Given the description of an element on the screen output the (x, y) to click on. 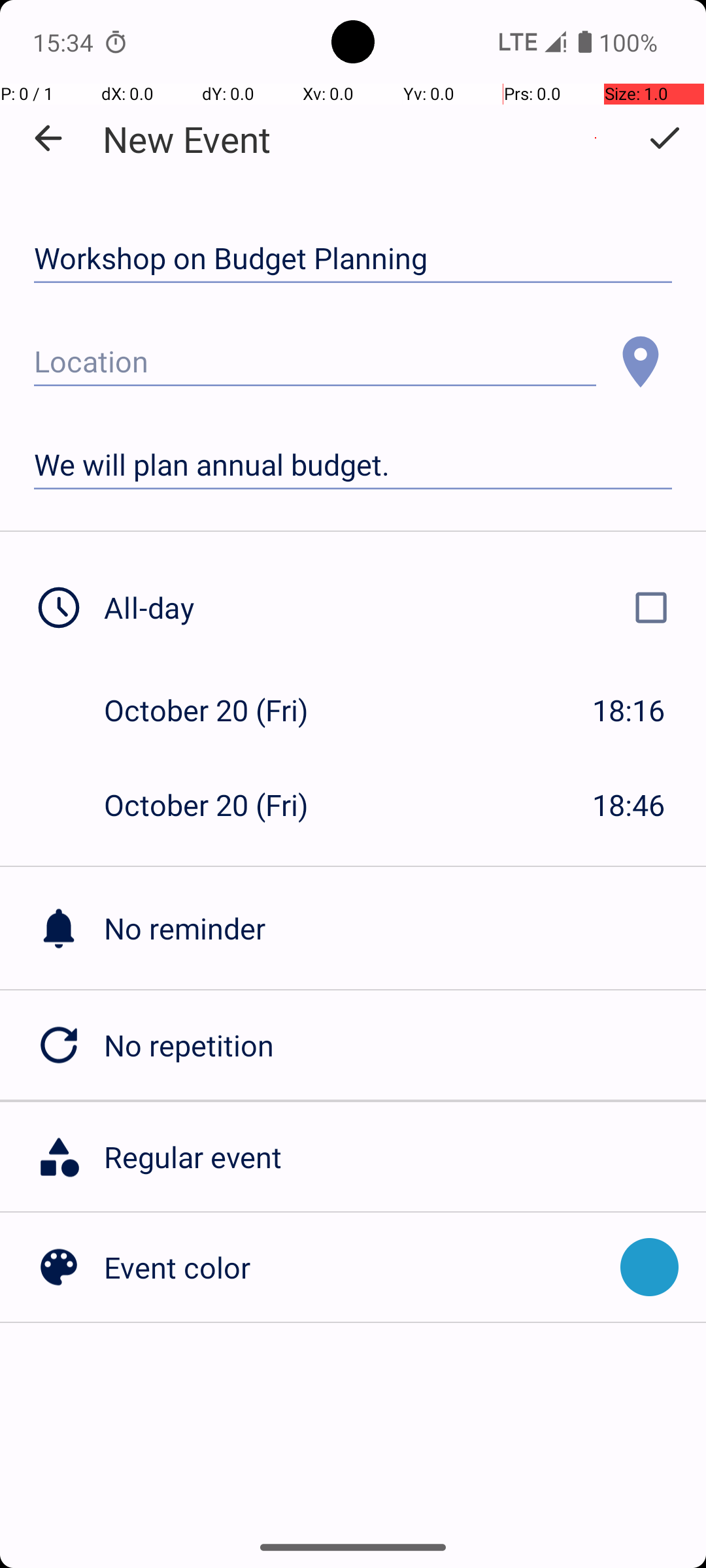
We will plan annual budget. Element type: android.widget.EditText (352, 465)
October 20 (Fri) Element type: android.widget.TextView (219, 709)
18:16 Element type: android.widget.TextView (628, 709)
18:46 Element type: android.widget.TextView (628, 804)
